Given the description of an element on the screen output the (x, y) to click on. 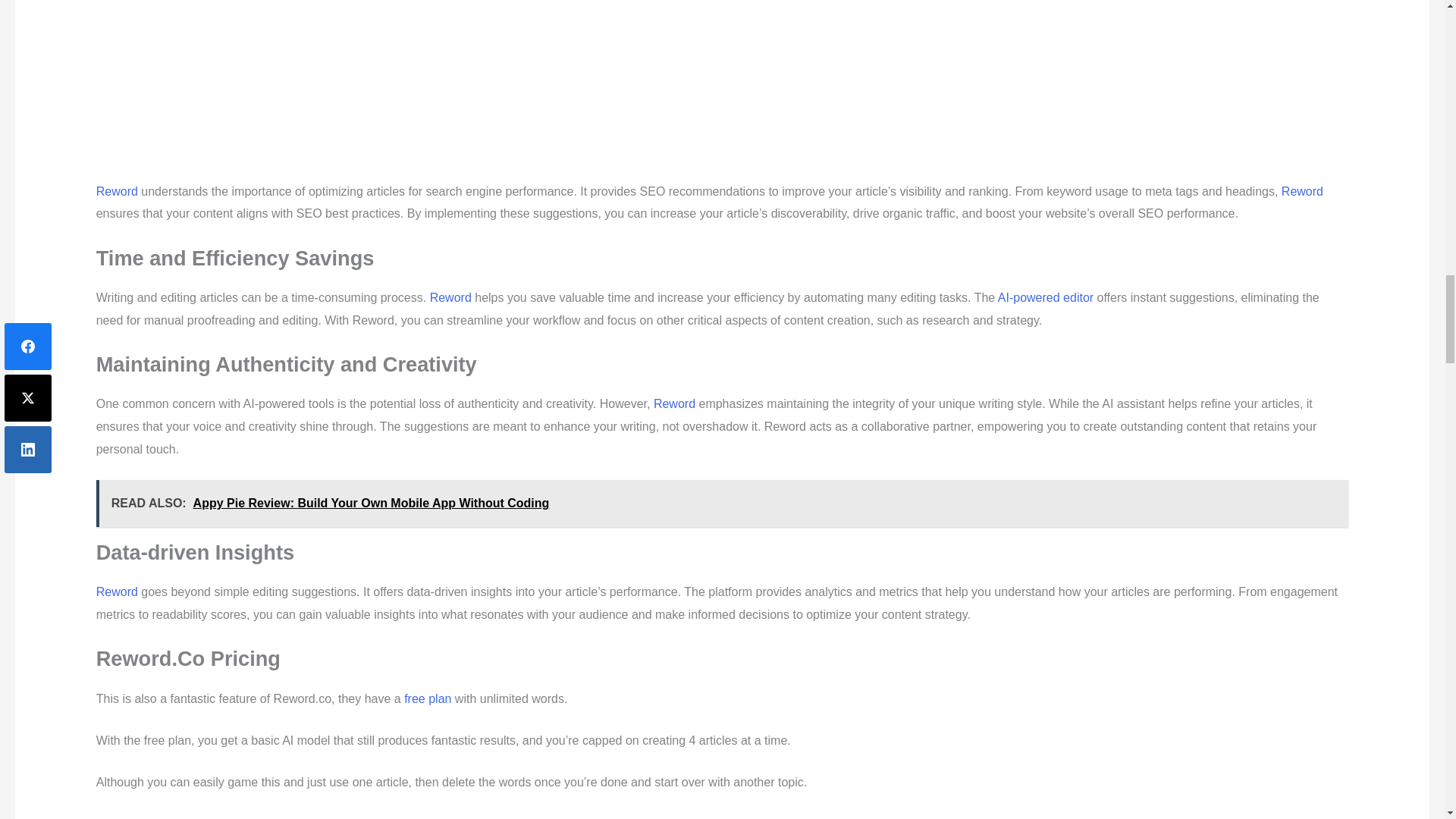
Reword (450, 297)
Reword (117, 191)
Reword (117, 591)
free plan (427, 698)
Reword (674, 403)
AI-powered editor (1045, 297)
Reword (1302, 191)
